Given the description of an element on the screen output the (x, y) to click on. 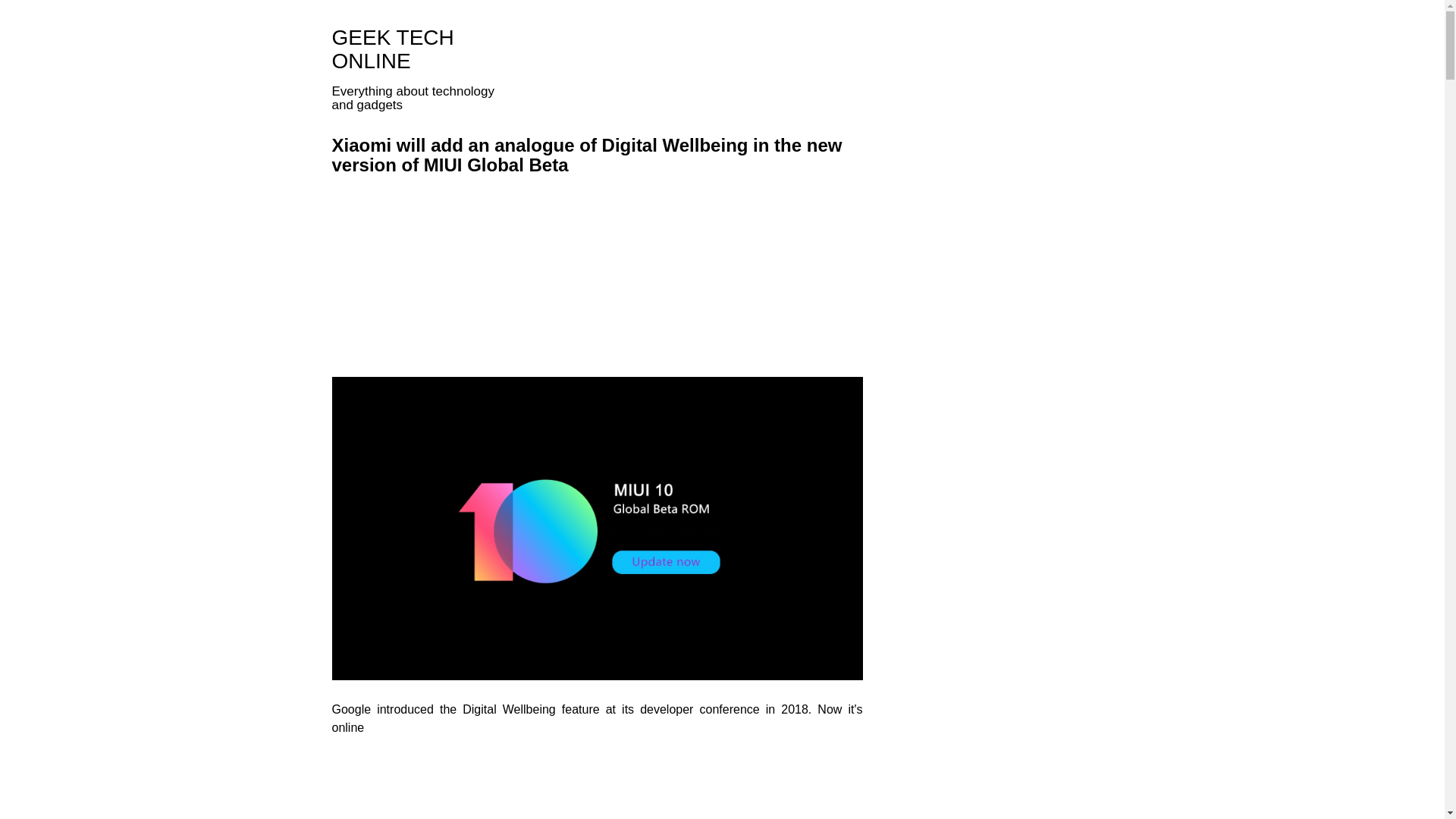
GEEK TECH ONLINE (392, 48)
Advertisement (597, 785)
Advertisement (735, 285)
Advertisement (458, 285)
Everything about technology and gadgets (392, 48)
